Given the description of an element on the screen output the (x, y) to click on. 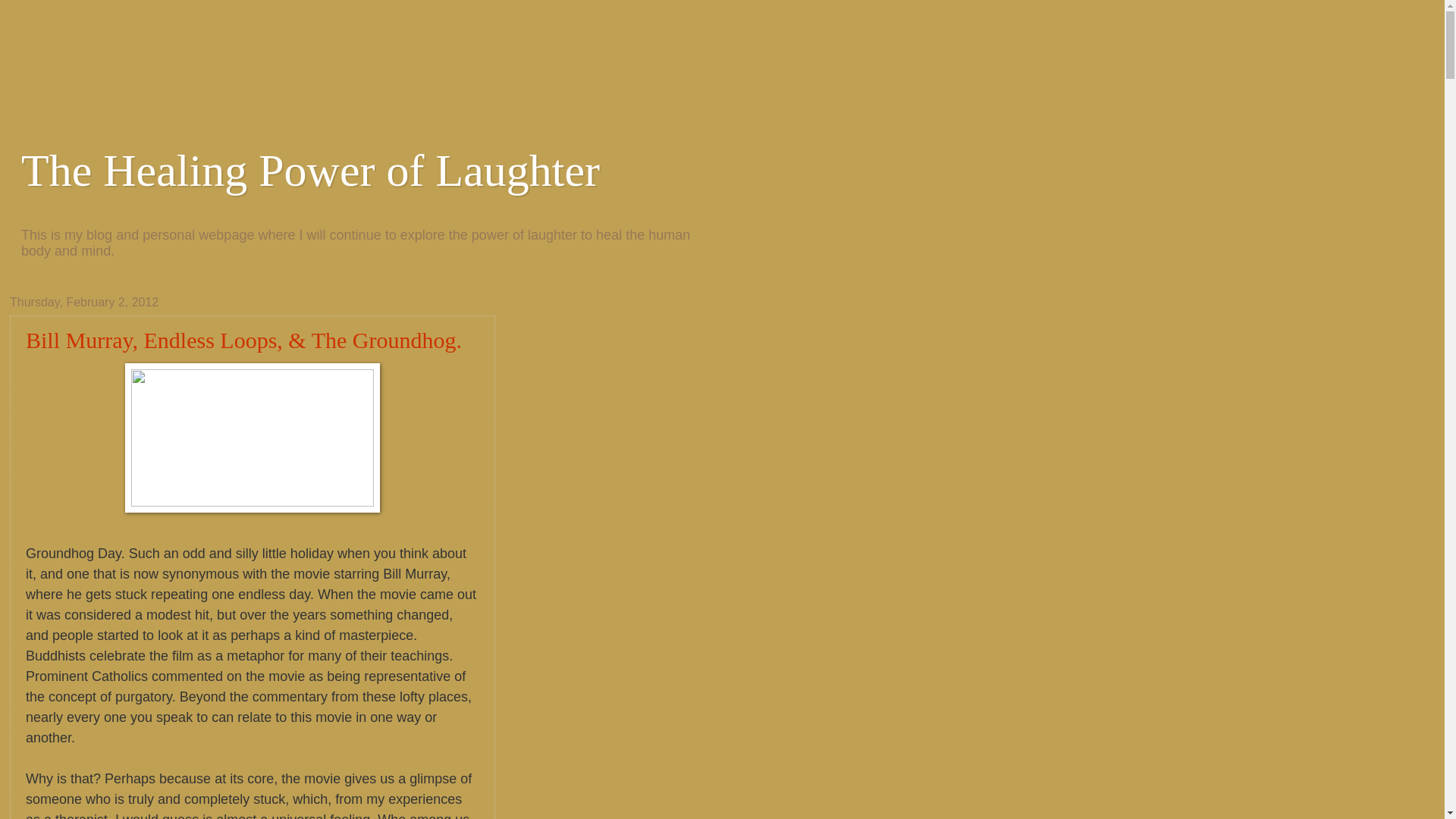
The Healing Power of Laughter (310, 170)
